Given the description of an element on the screen output the (x, y) to click on. 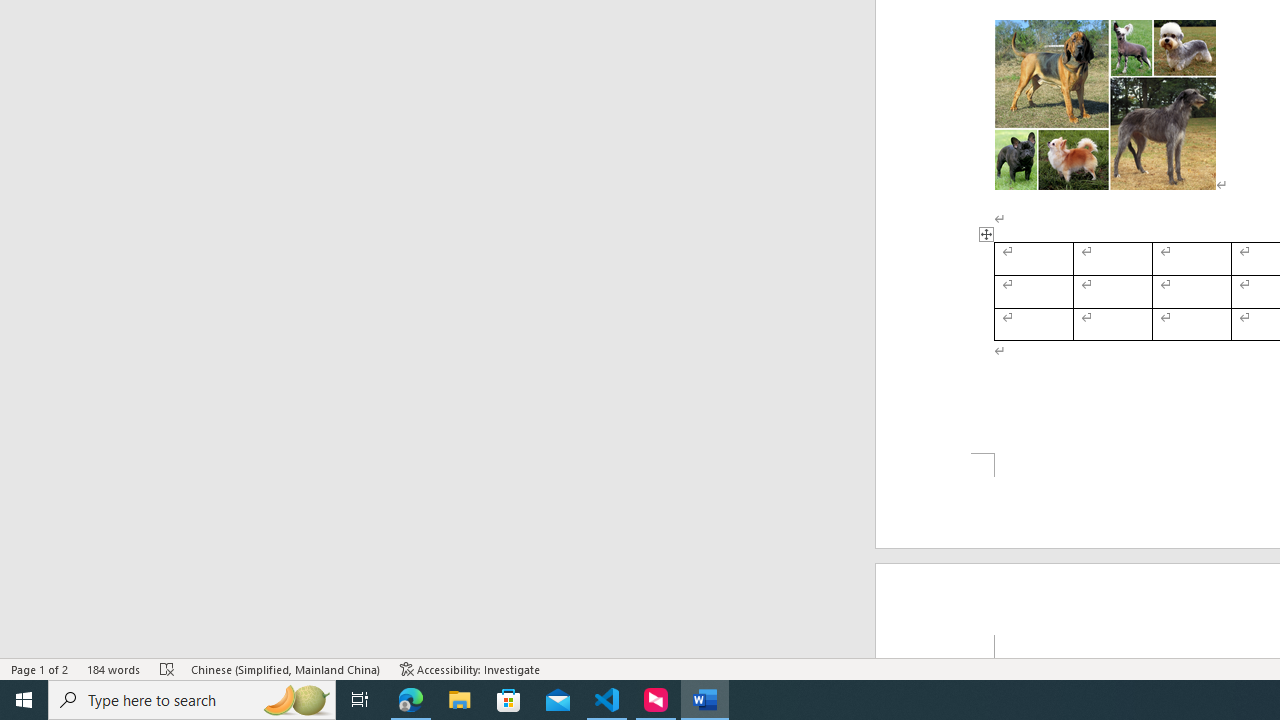
Morphological variation in six dogs (1105, 105)
Spelling and Grammar Check Errors (168, 668)
Accessibility Checker Accessibility: Investigate (470, 668)
Page Number Page 1 of 2 (39, 668)
Language Chinese (Simplified, Mainland China) (286, 668)
Word Count 184 words (113, 668)
